Given the description of an element on the screen output the (x, y) to click on. 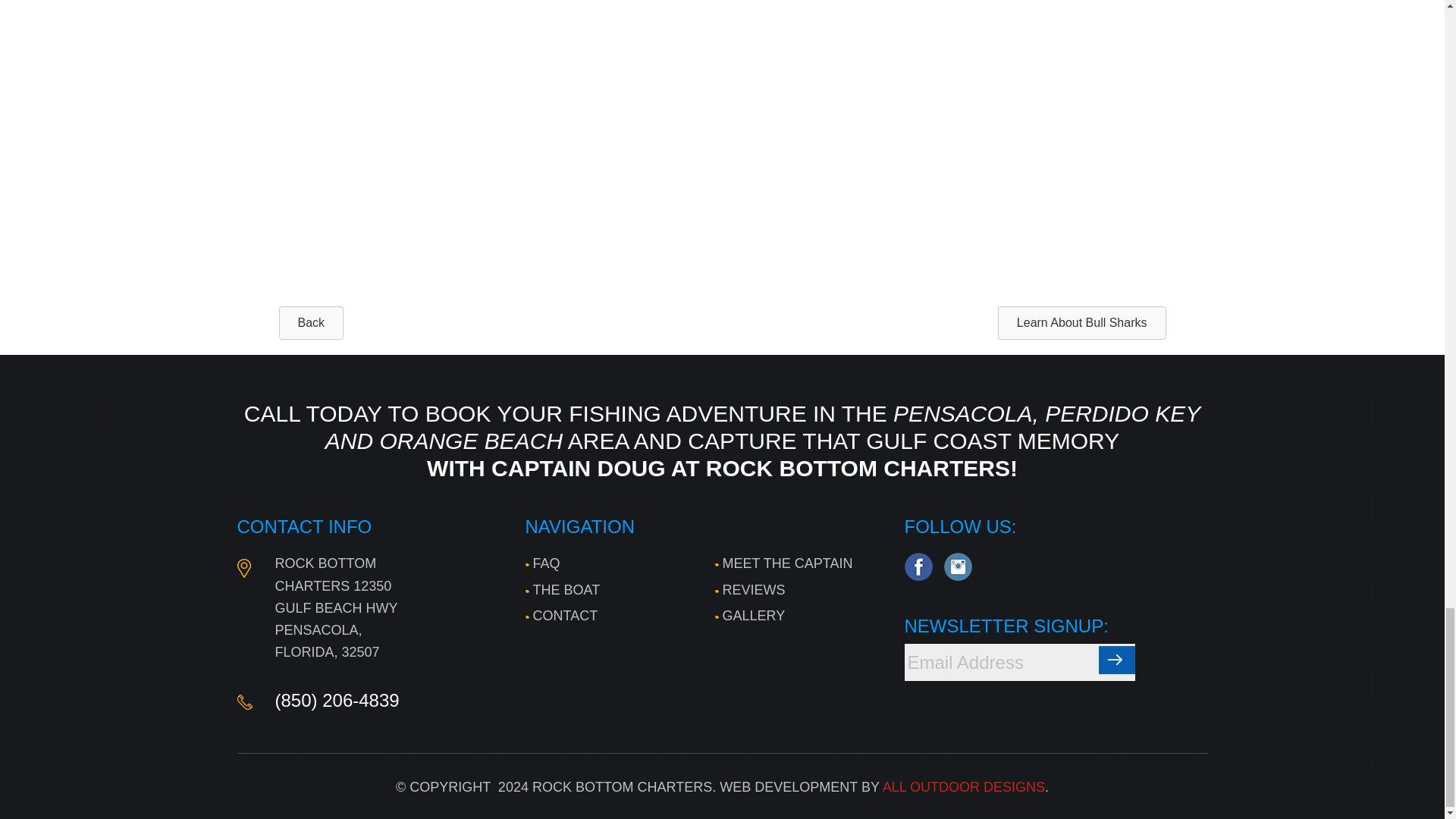
Back (311, 322)
CONTACT (560, 615)
FAQ (541, 563)
ALL OUTDOOR DESIGNS (963, 786)
MEET THE CAPTAIN (782, 563)
THE BOAT (561, 589)
REVIEWS (749, 589)
GALLERY (749, 615)
Submit (1115, 660)
Learn About Bull Sharks (1081, 322)
